Given the description of an element on the screen output the (x, y) to click on. 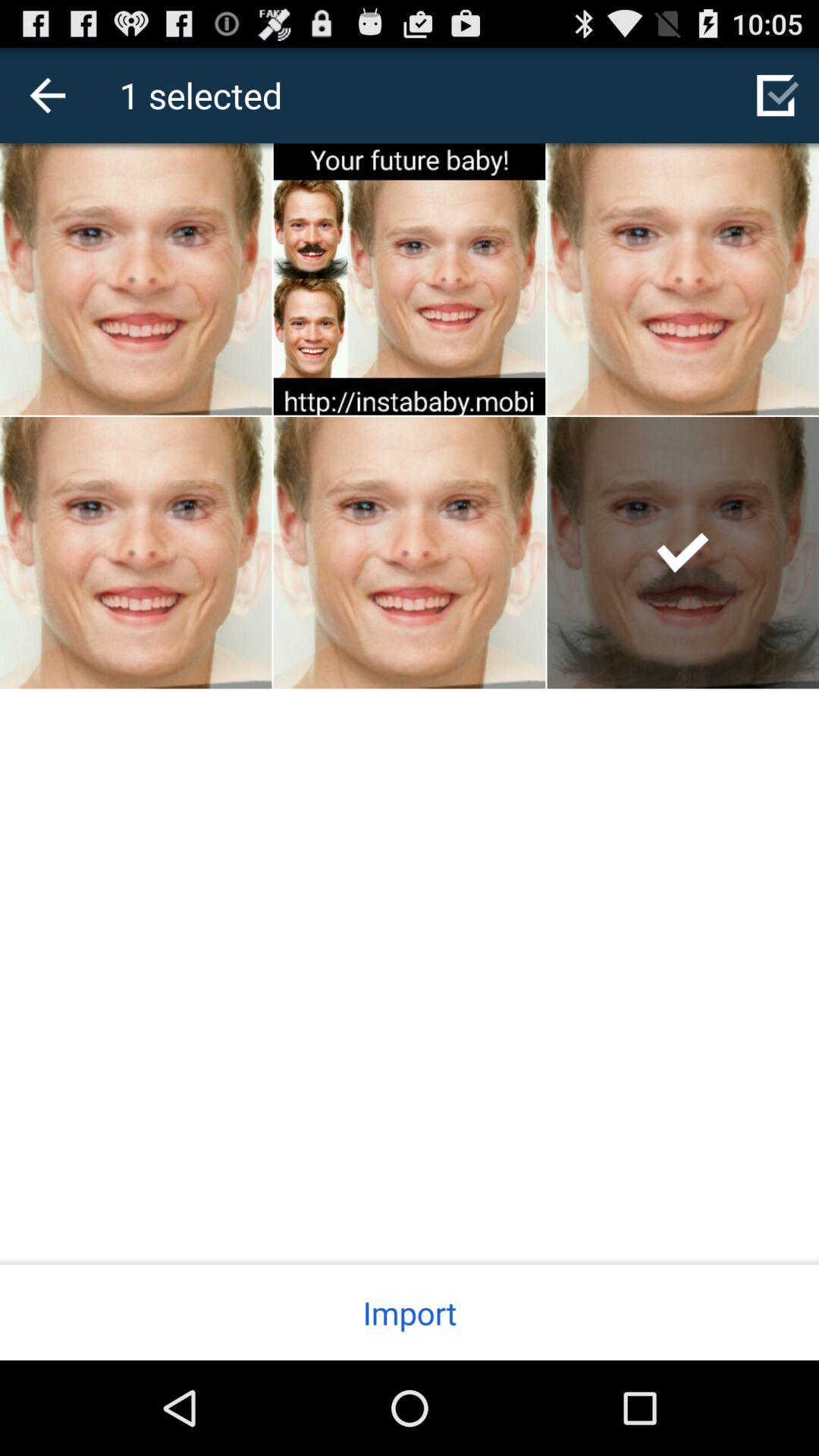
select the image top right (683, 278)
click the backward button (47, 95)
select the image below right button (683, 552)
click on tick symbol in the last image (682, 552)
select the image frist column second image (409, 278)
